Given the description of an element on the screen output the (x, y) to click on. 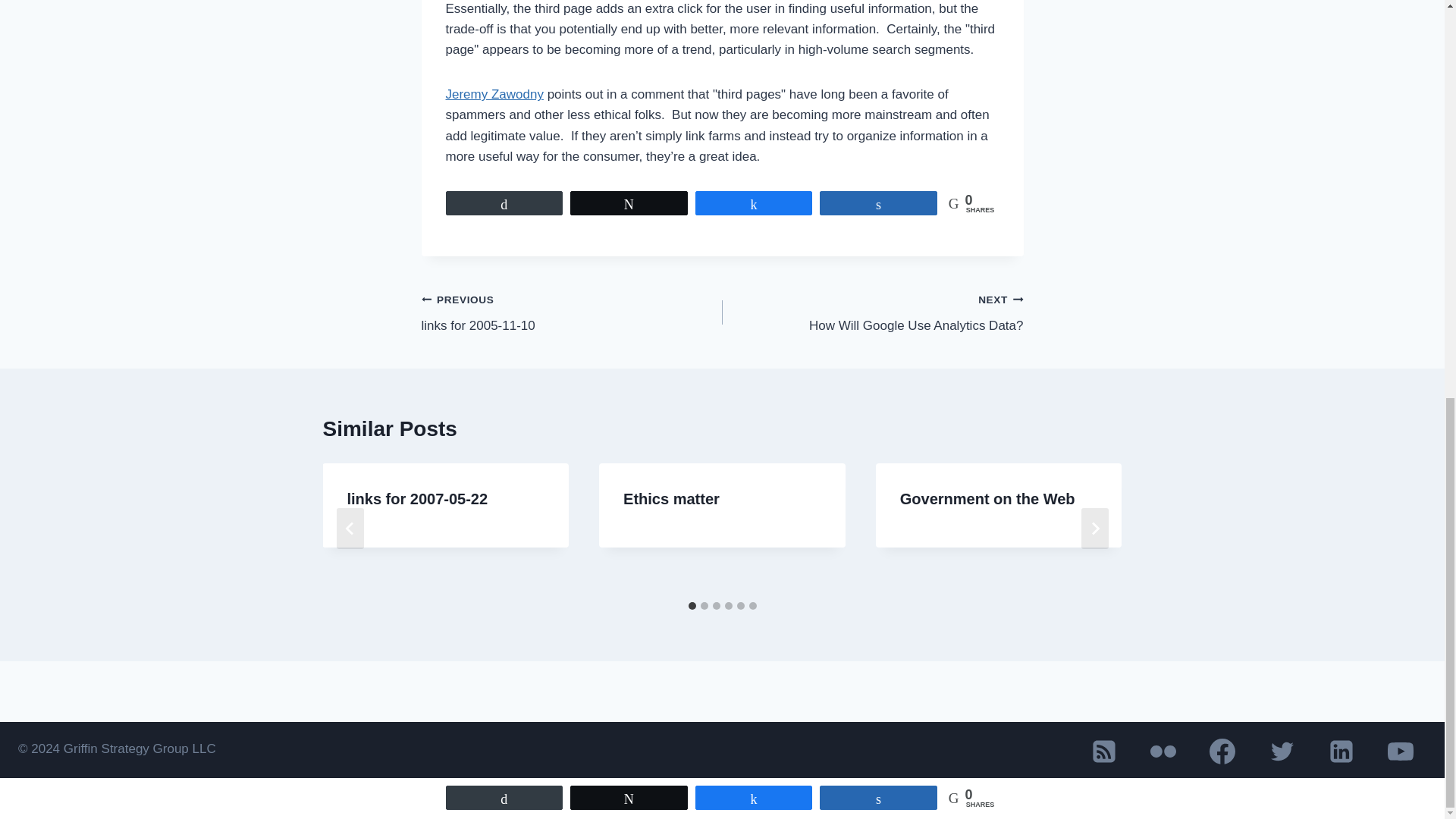
Jeremy Zawodny (494, 93)
